Given the description of an element on the screen output the (x, y) to click on. 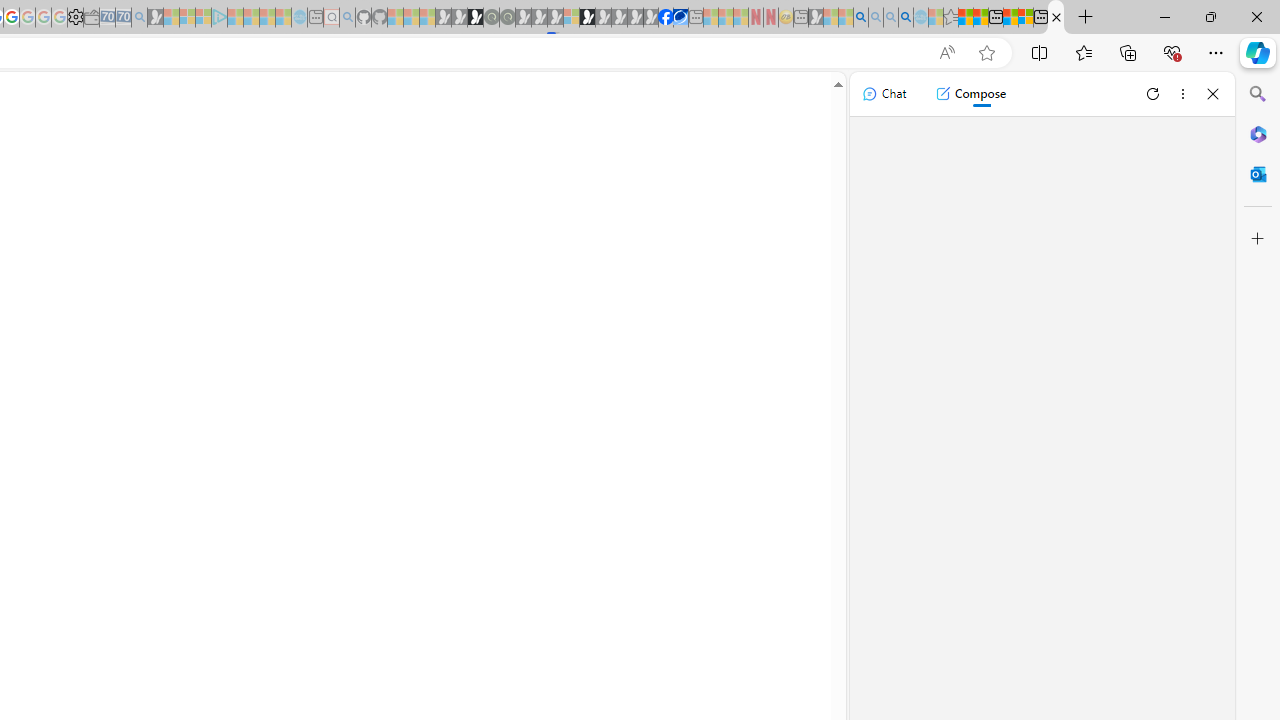
Microsoft Start Gaming - Sleeping (155, 17)
Wallet - Sleeping (91, 17)
